Given the description of an element on the screen output the (x, y) to click on. 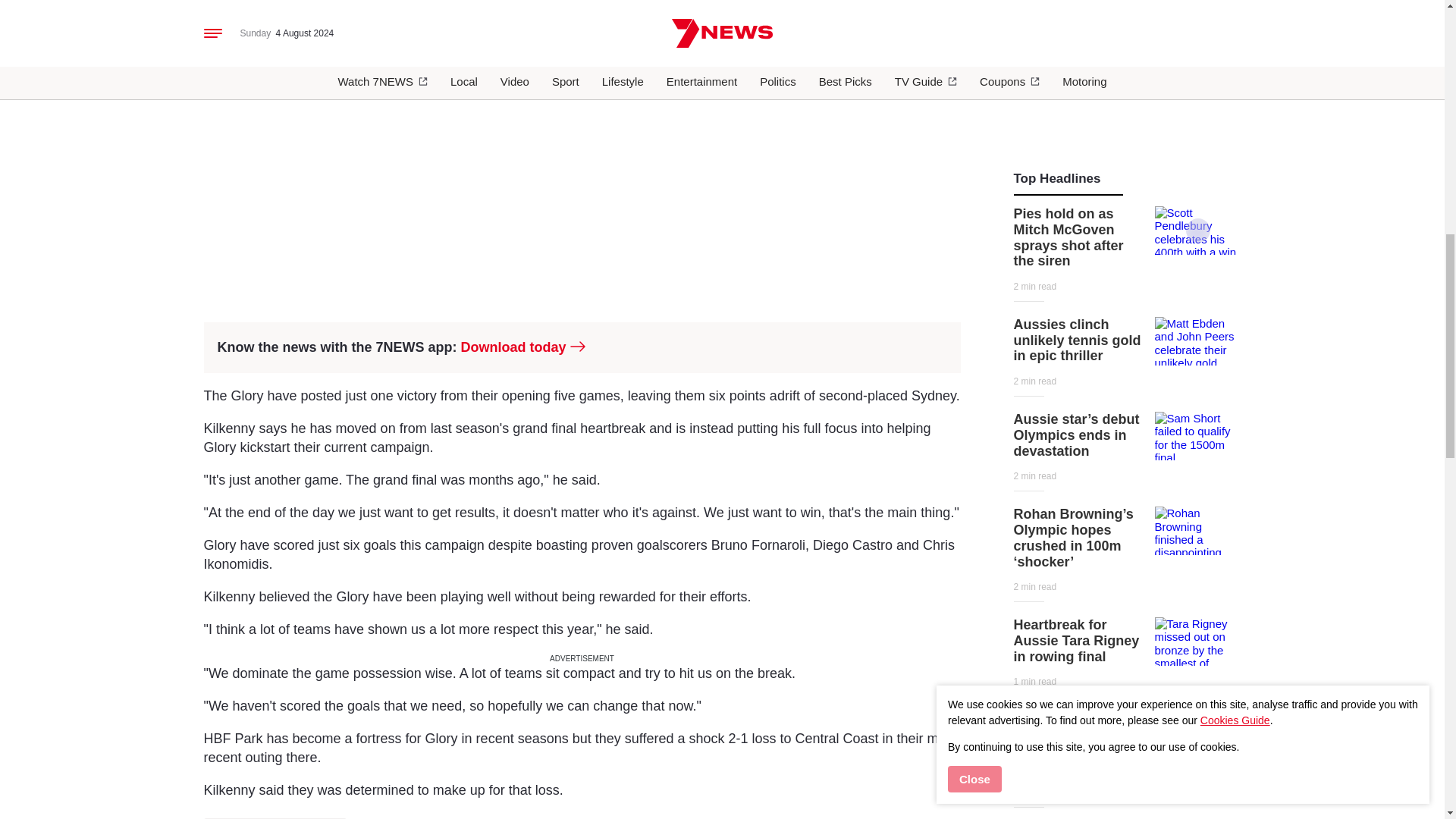
Video (1197, 230)
